Given the description of an element on the screen output the (x, y) to click on. 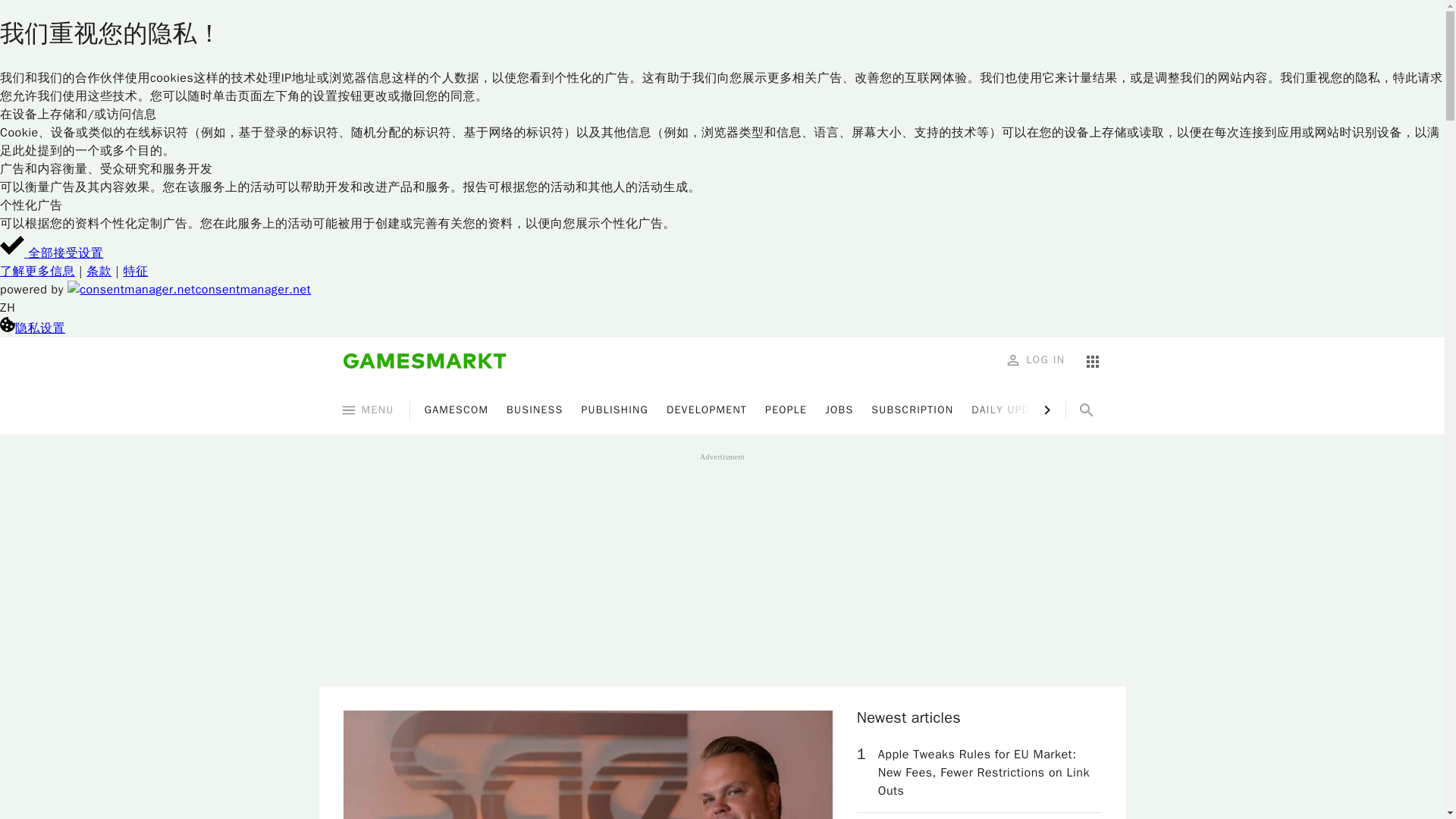
SUBSCRIPTION (911, 410)
DEVELOPMENT (706, 410)
MENU (367, 410)
BUSINESS (534, 410)
LOG IN (1035, 359)
GAMESCOM (456, 410)
PUBLISHING (613, 410)
PEOPLE (785, 410)
